Given the description of an element on the screen output the (x, y) to click on. 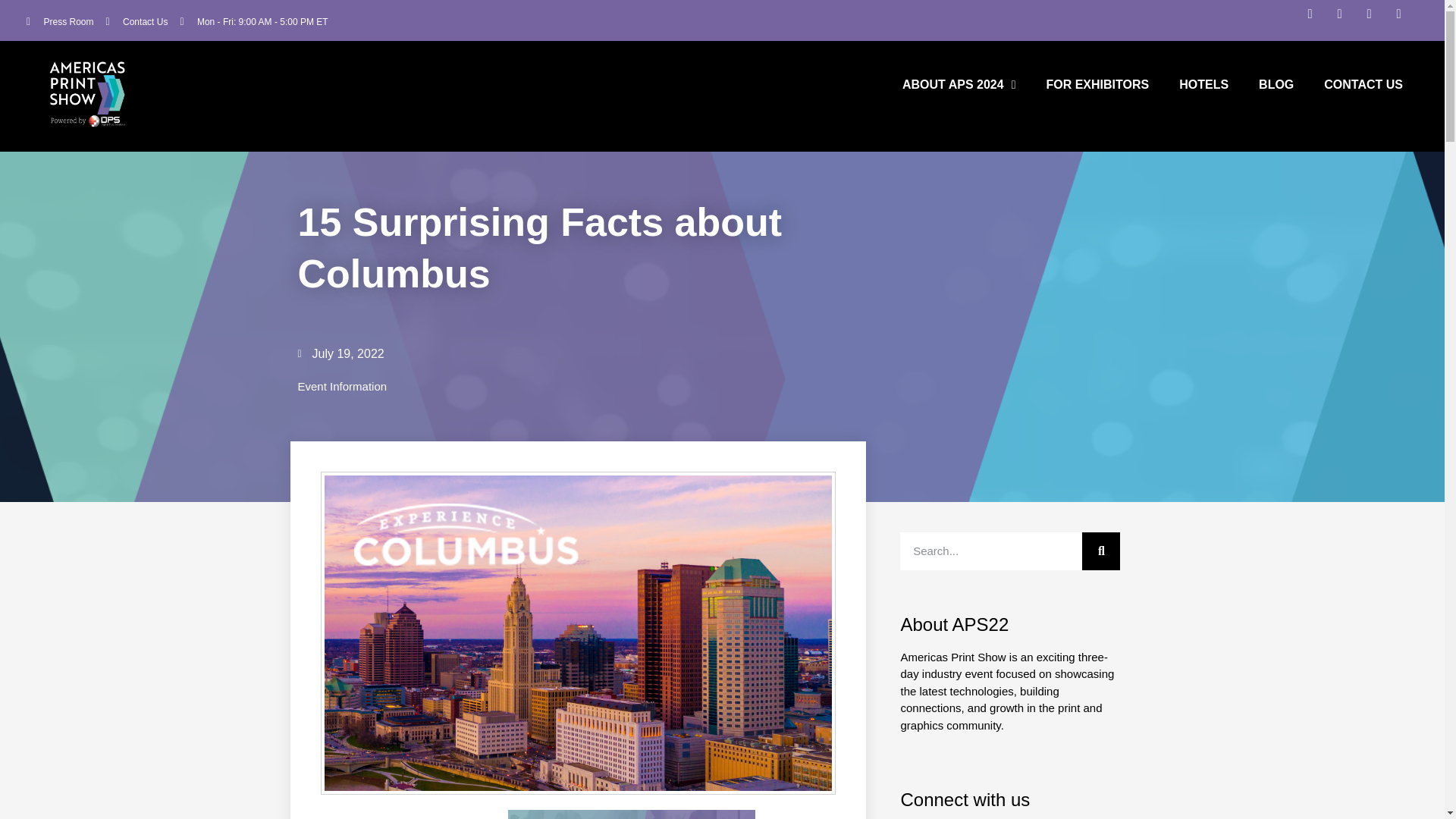
CONTACT US (1363, 84)
ABOUT APS 2024 (958, 84)
BLOG (1275, 84)
Event Information (342, 386)
Press Room (60, 21)
July 19, 2022 (340, 353)
Contact Us (137, 21)
HOTELS (1203, 84)
FOR EXHIBITORS (1096, 84)
